Given the description of an element on the screen output the (x, y) to click on. 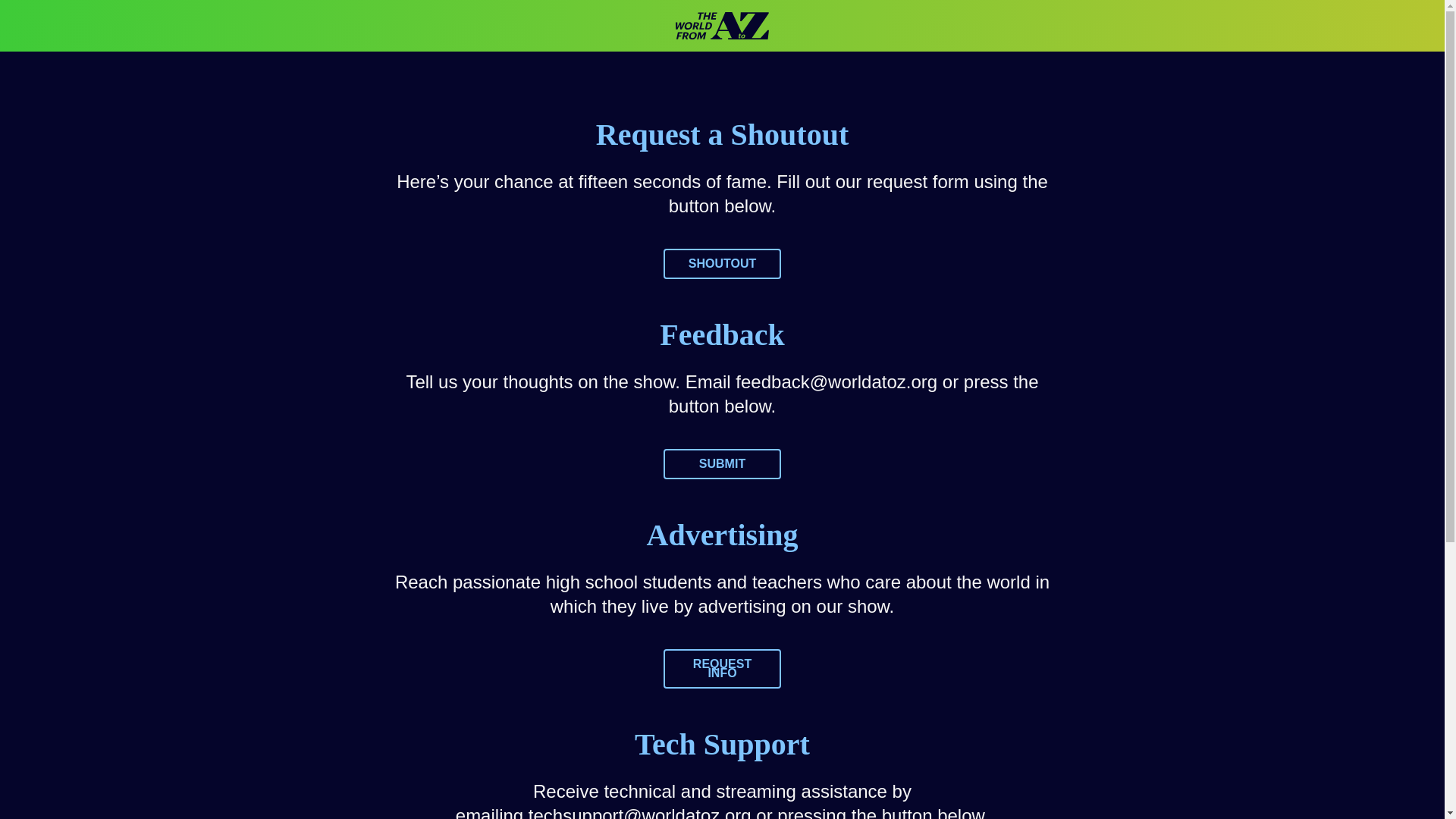
REQUEST INFO (721, 668)
SUBMIT (721, 463)
SHOUTOUT (721, 263)
